Given the description of an element on the screen output the (x, y) to click on. 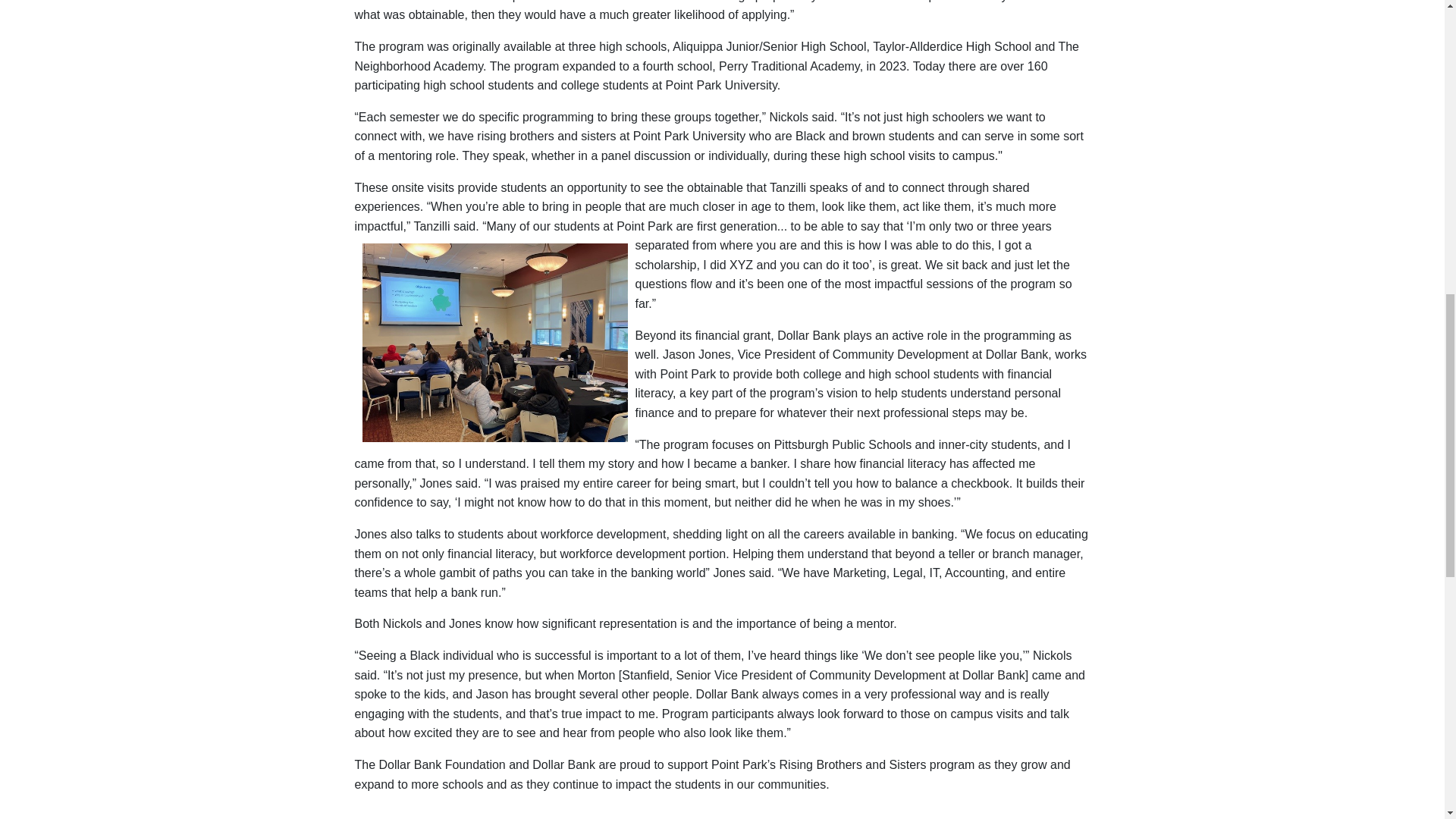
Students-working-at-Rising-Brothers-and-Sisters-event.jpg (494, 342)
